Given the description of an element on the screen output the (x, y) to click on. 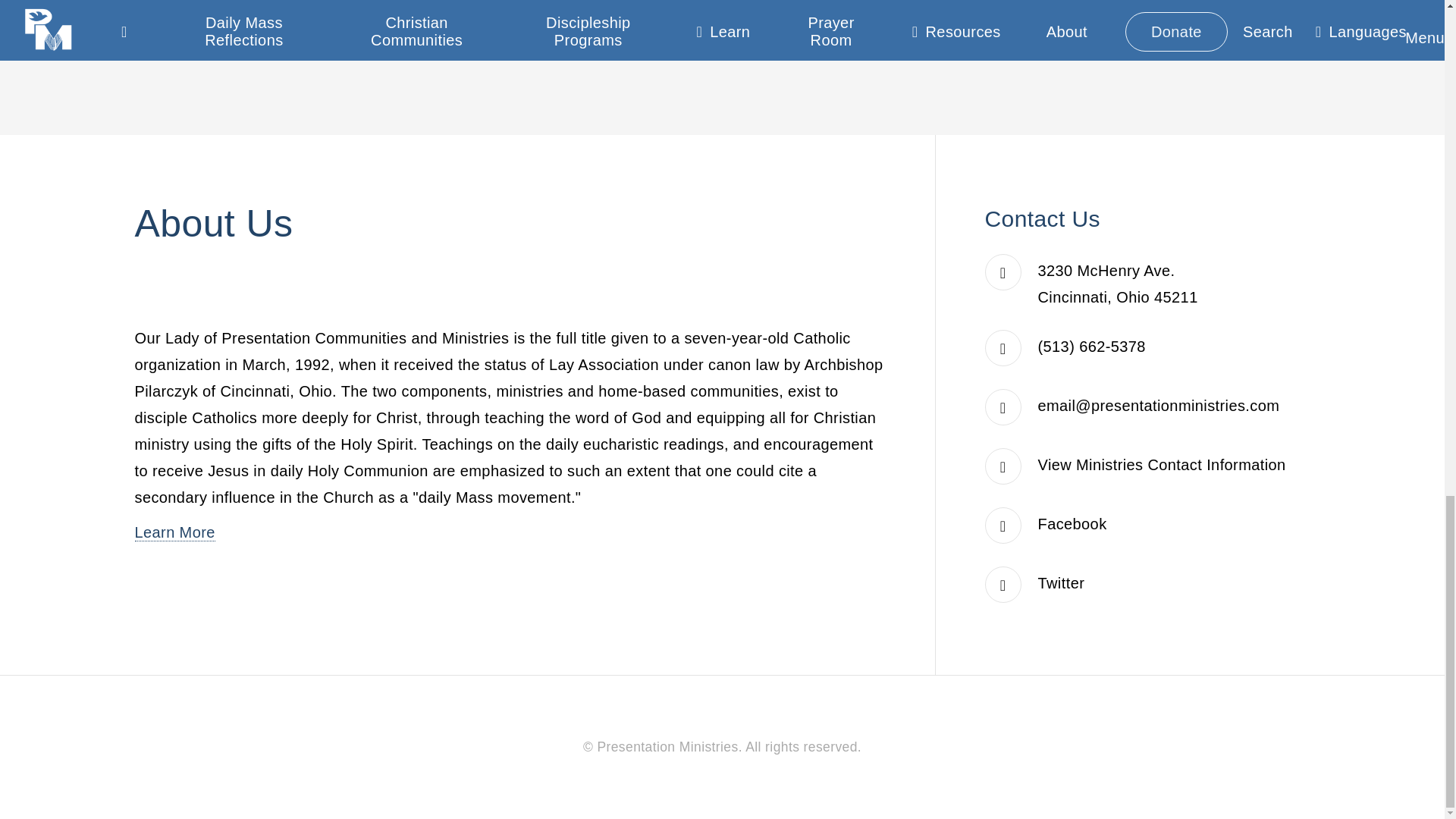
Telephone (1091, 346)
Twitter (1061, 582)
Facebook (1072, 523)
E-mail (1158, 405)
